Given the description of an element on the screen output the (x, y) to click on. 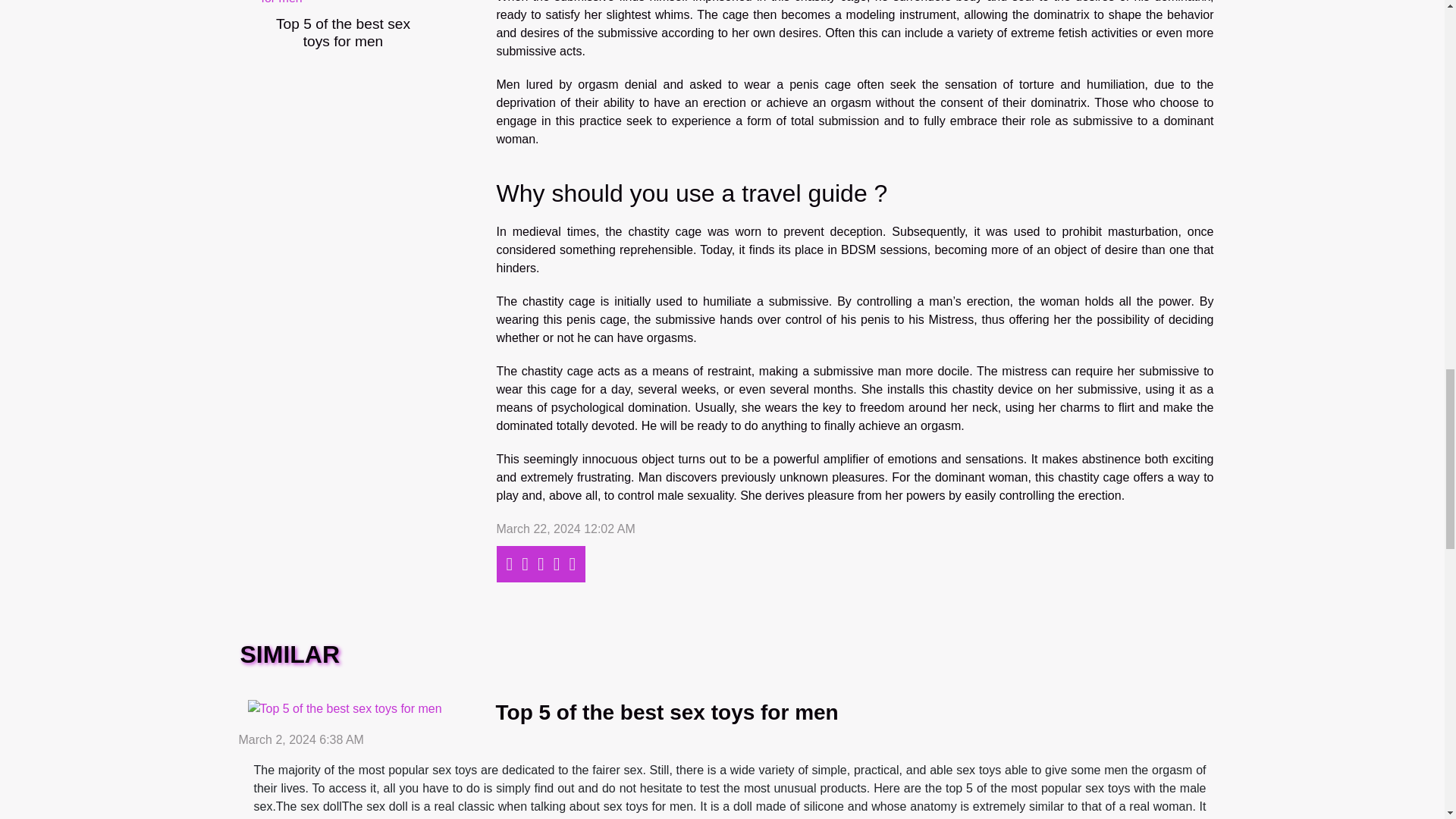
Top 5 of the best sex toys for men (343, 32)
Top 5 of the best sex toys for men (667, 712)
Top 5 of the best sex toys for men (343, 32)
Top 5 of the best sex toys for men (667, 712)
